Given the description of an element on the screen output the (x, y) to click on. 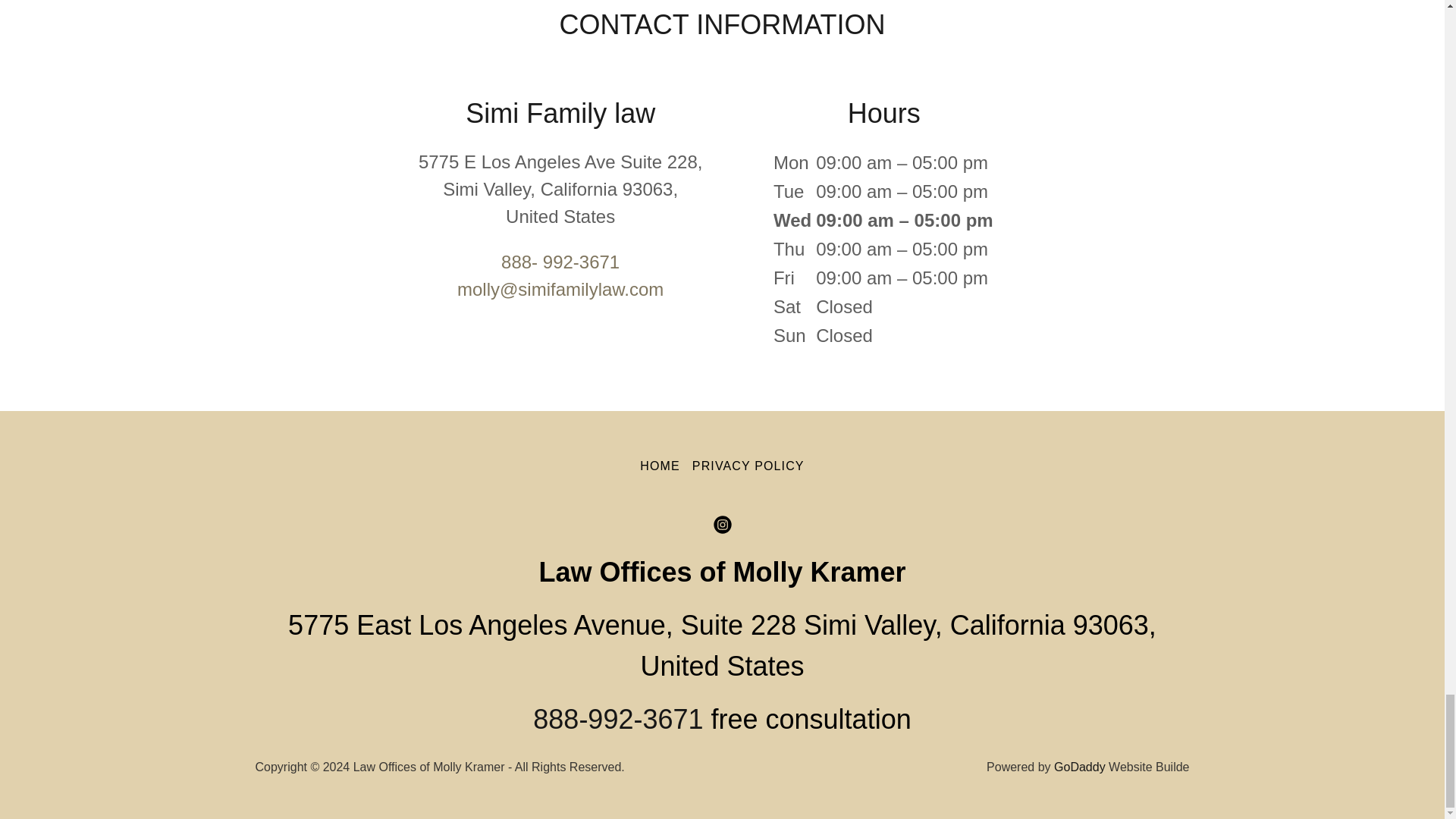
PRIVACY POLICY (747, 466)
HOME (659, 466)
888- 992-3671 (560, 261)
